Given the description of an element on the screen output the (x, y) to click on. 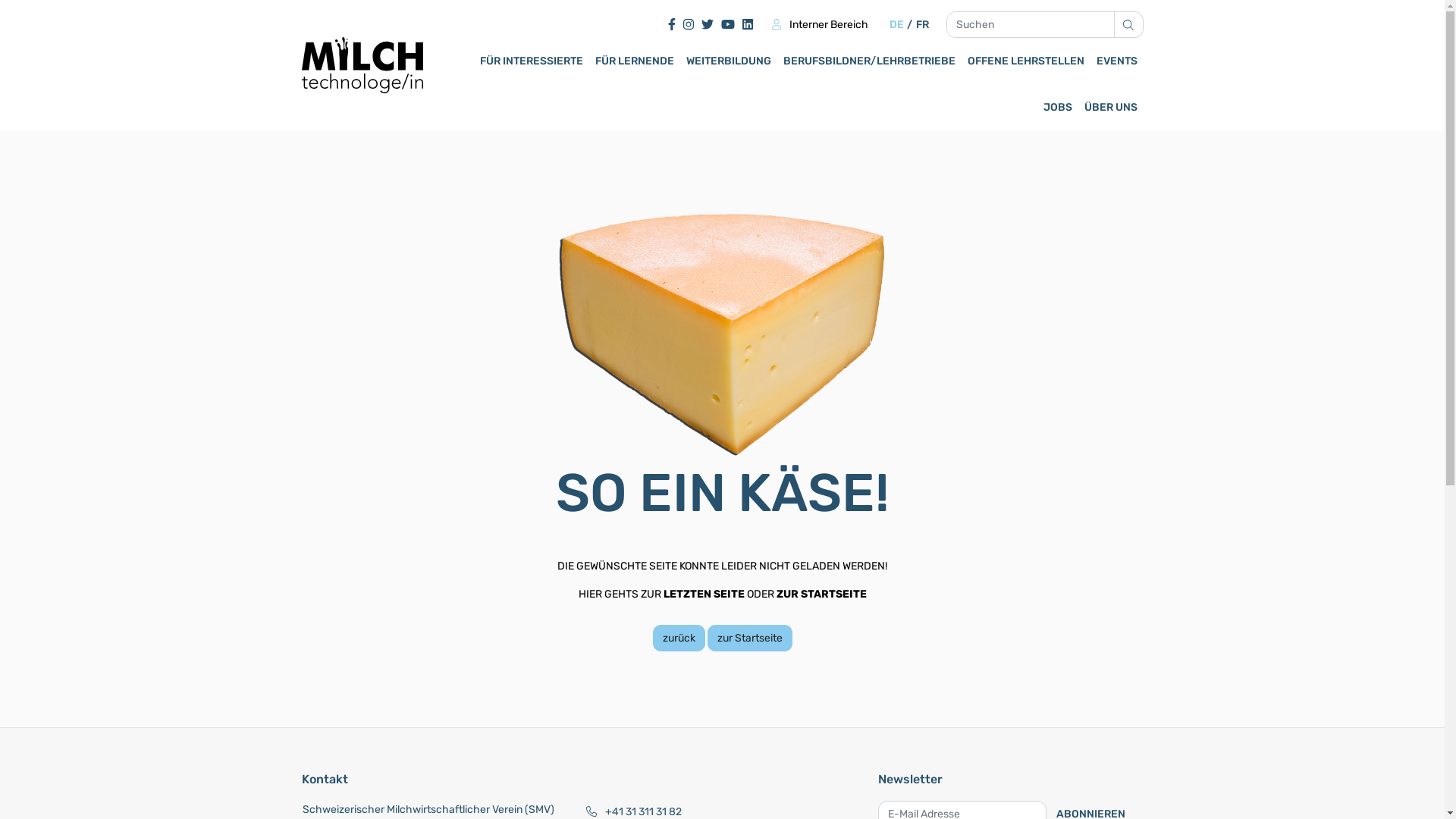
EVENTS Element type: text (1116, 60)
Interner Bereich Element type: text (819, 24)
zur Startseite Element type: text (748, 637)
OFFENE LEHRSTELLEN Element type: text (1025, 60)
DE Element type: text (895, 24)
JOBS Element type: text (1057, 107)
+41 31 311 31 82 Element type: text (643, 811)
WEITERBILDUNG Element type: text (727, 60)
BERUFSBILDNER/LEHRBETRIEBE Element type: text (868, 60)
FR Element type: text (922, 24)
